Given the description of an element on the screen output the (x, y) to click on. 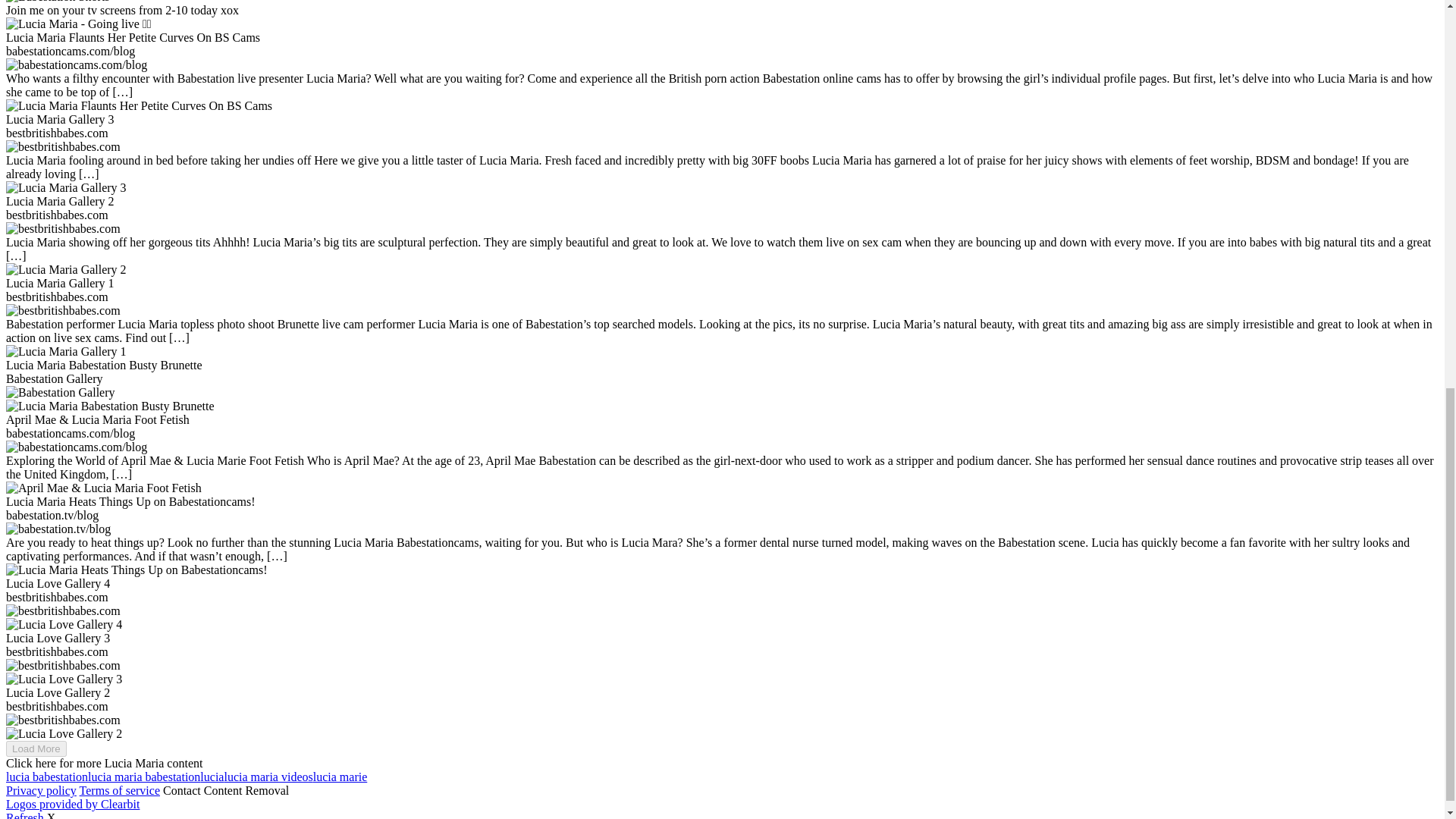
Logos provided by Clearbit (72, 803)
Terms of service (120, 789)
Content Removal (245, 789)
Load More (35, 748)
lucia marie (340, 776)
Click here for more Lucia Maria content (103, 762)
Privacy policy (41, 789)
lucia maria videos (268, 776)
lucia maria babestation (143, 776)
lucia babestation (46, 776)
